Given the description of an element on the screen output the (x, y) to click on. 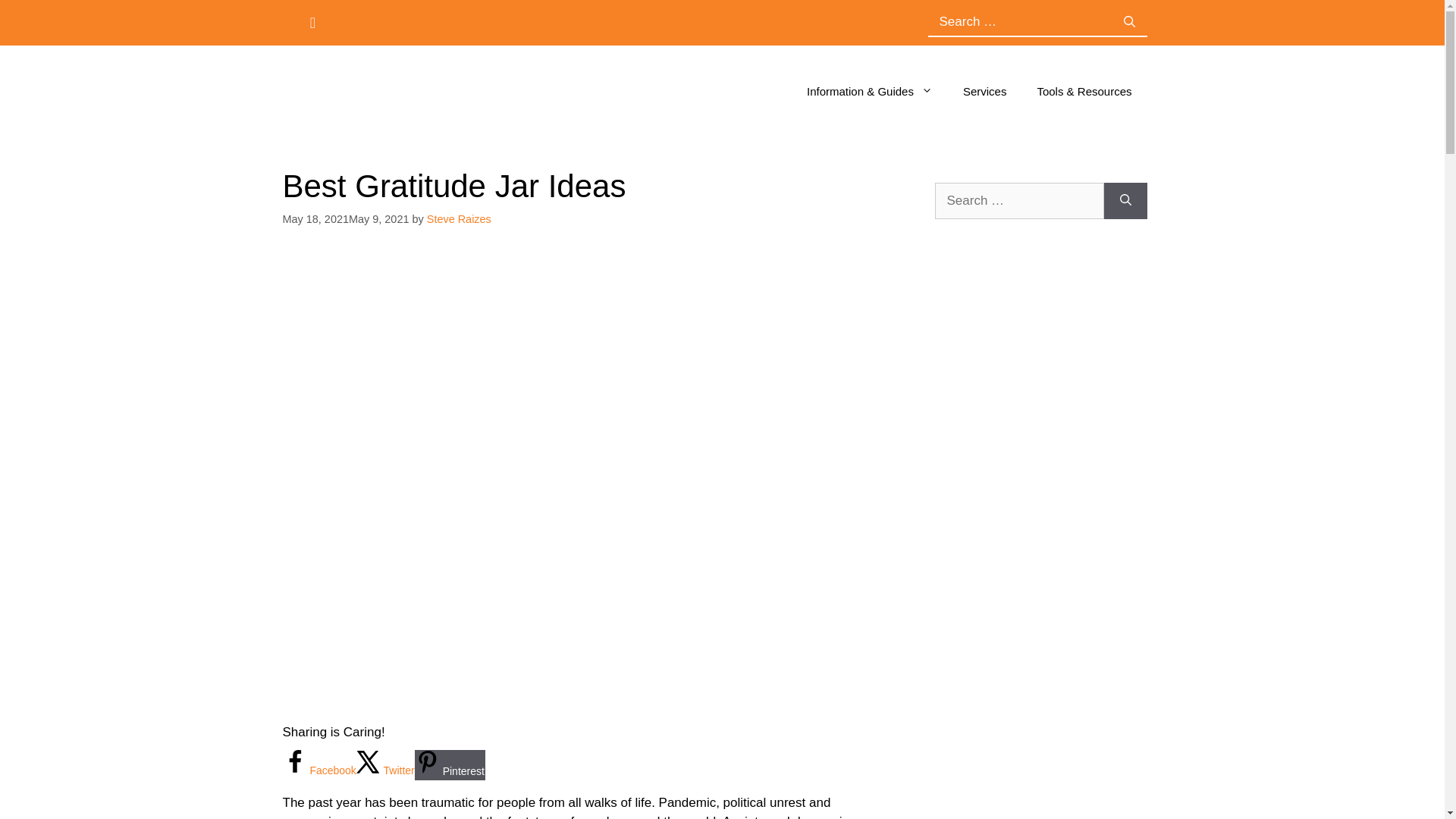
Pinterest (449, 765)
Twitter (385, 770)
My Retirement Pals (400, 91)
Share on Facebook (318, 770)
Steve Raizes (459, 218)
Save to Pinterest (449, 765)
Facebook (318, 770)
My Retirement Pals (400, 90)
Search for: (1018, 200)
Services (984, 90)
Share on X (385, 770)
LinkedIn (348, 21)
Search for: (1020, 22)
View all posts by Steve Raizes (459, 218)
Pinterest (312, 22)
